Given the description of an element on the screen output the (x, y) to click on. 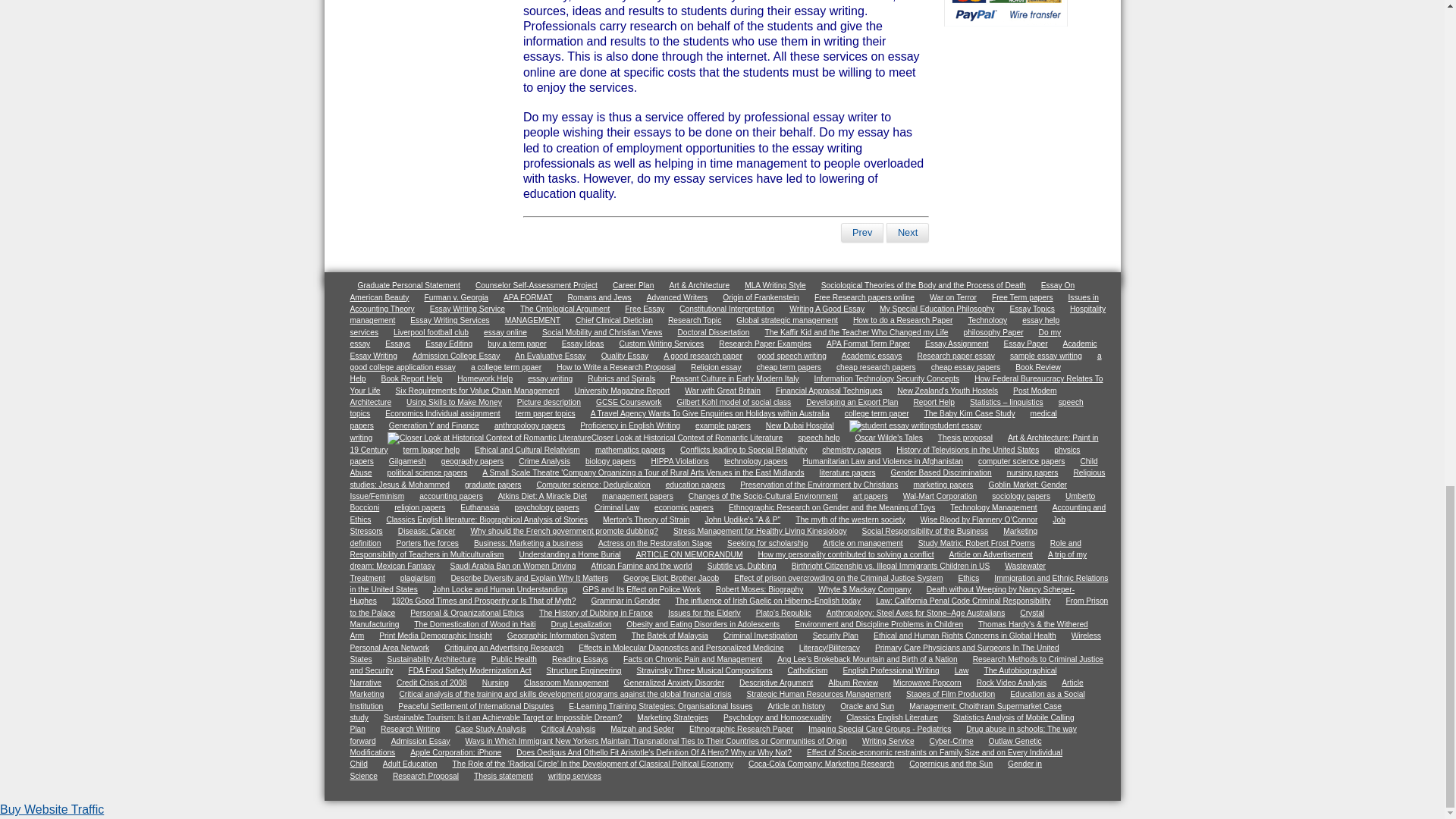
Next (907, 232)
Prev (862, 232)
order (1005, 22)
